Given the description of an element on the screen output the (x, y) to click on. 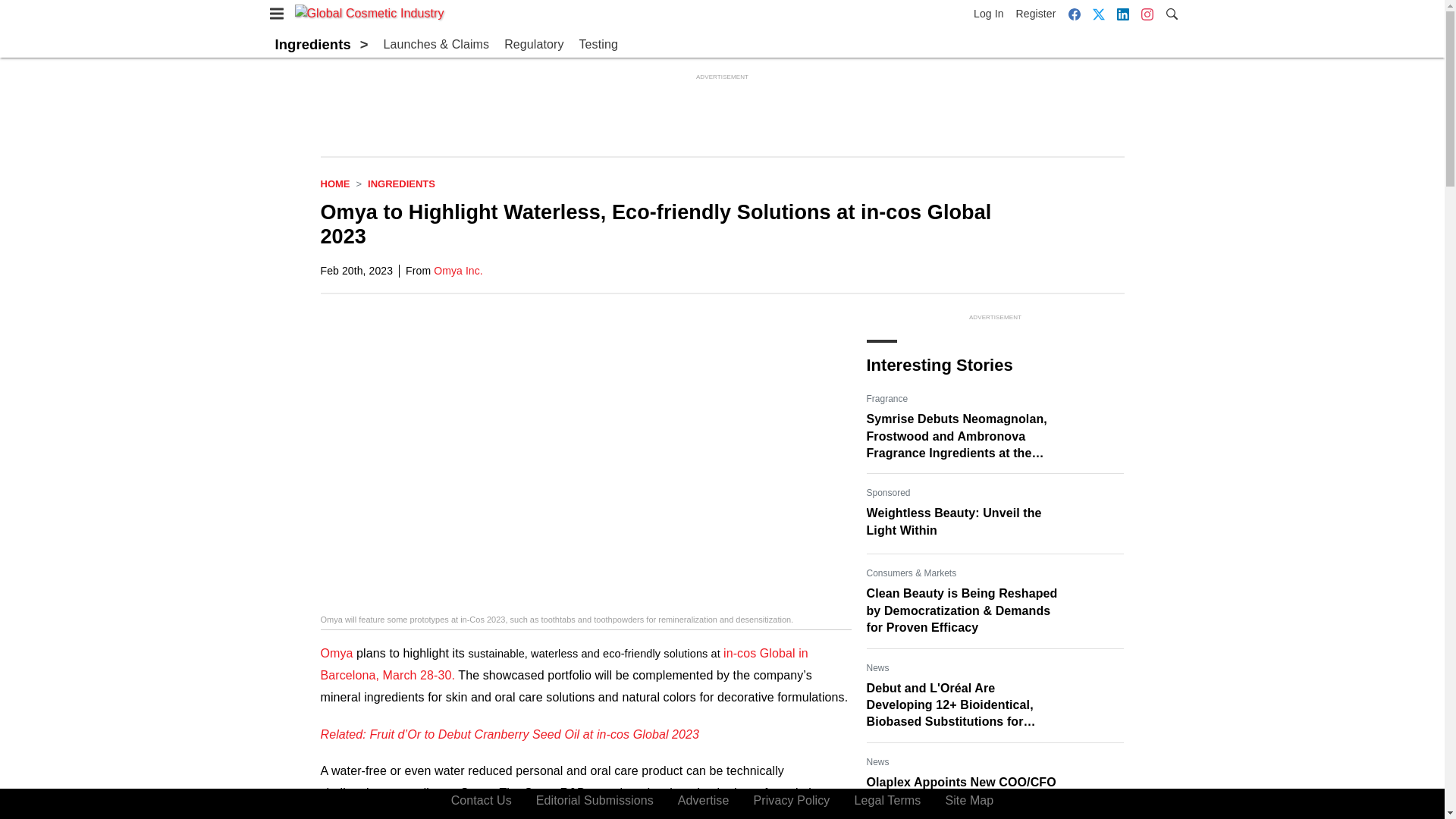
Testing (598, 44)
Regulatory (533, 44)
Register (1036, 13)
Facebook icon (1073, 14)
LinkedIn icon (1122, 14)
Ingredients (312, 44)
Ingredients (401, 183)
Twitter X icon (1097, 14)
Twitter X icon (1097, 13)
Instagram icon (1146, 13)
Instagram icon (1146, 14)
Sponsored (888, 492)
LinkedIn icon (1121, 13)
Search (1170, 12)
Facebook icon (1073, 13)
